Given the description of an element on the screen output the (x, y) to click on. 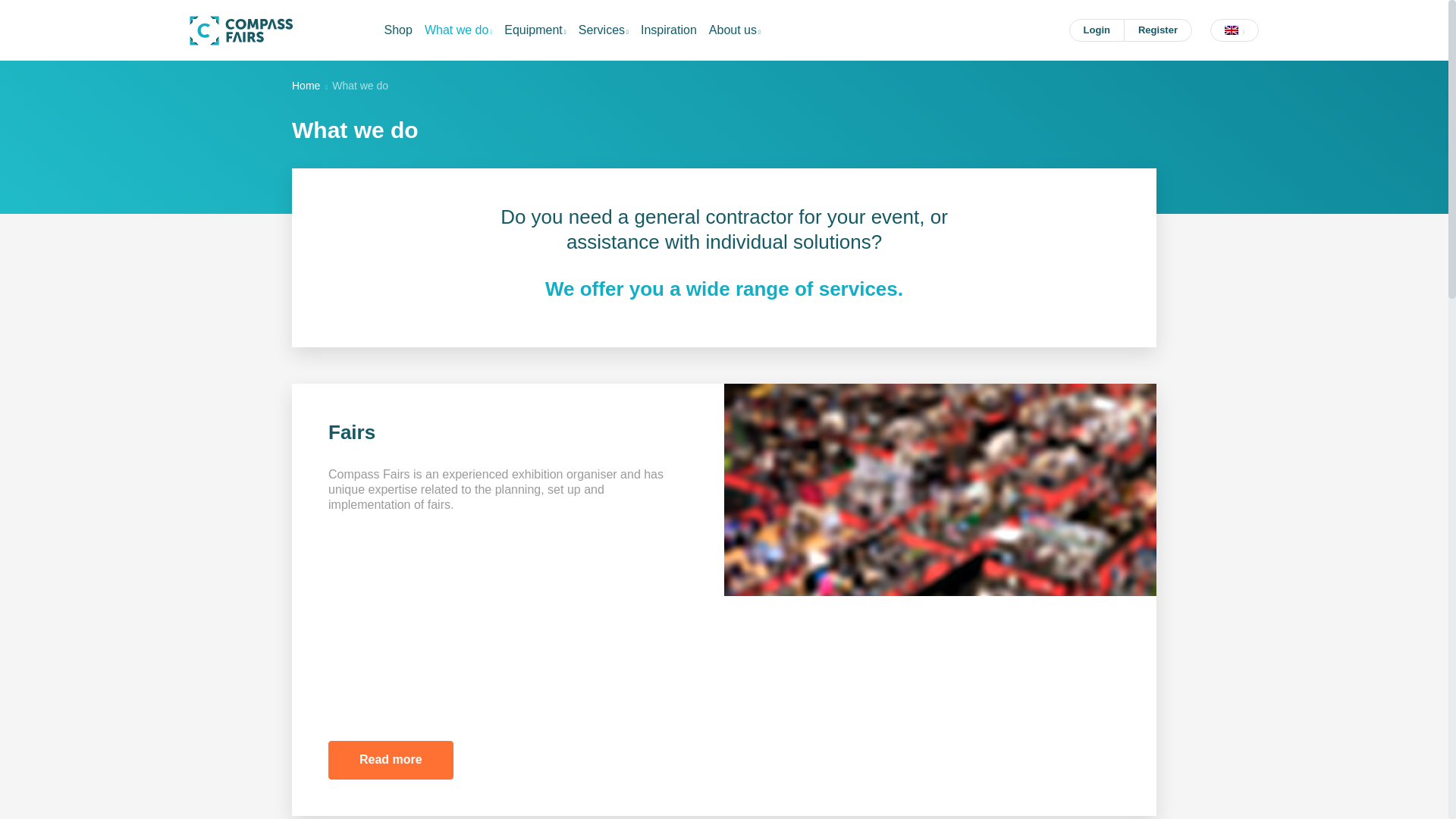
Services (603, 30)
About us (735, 30)
Shop (397, 30)
DINSTAND (241, 30)
Inspiration (668, 30)
Login (1096, 29)
Register (1158, 29)
Equipment (534, 30)
What we do (458, 30)
